Given the description of an element on the screen output the (x, y) to click on. 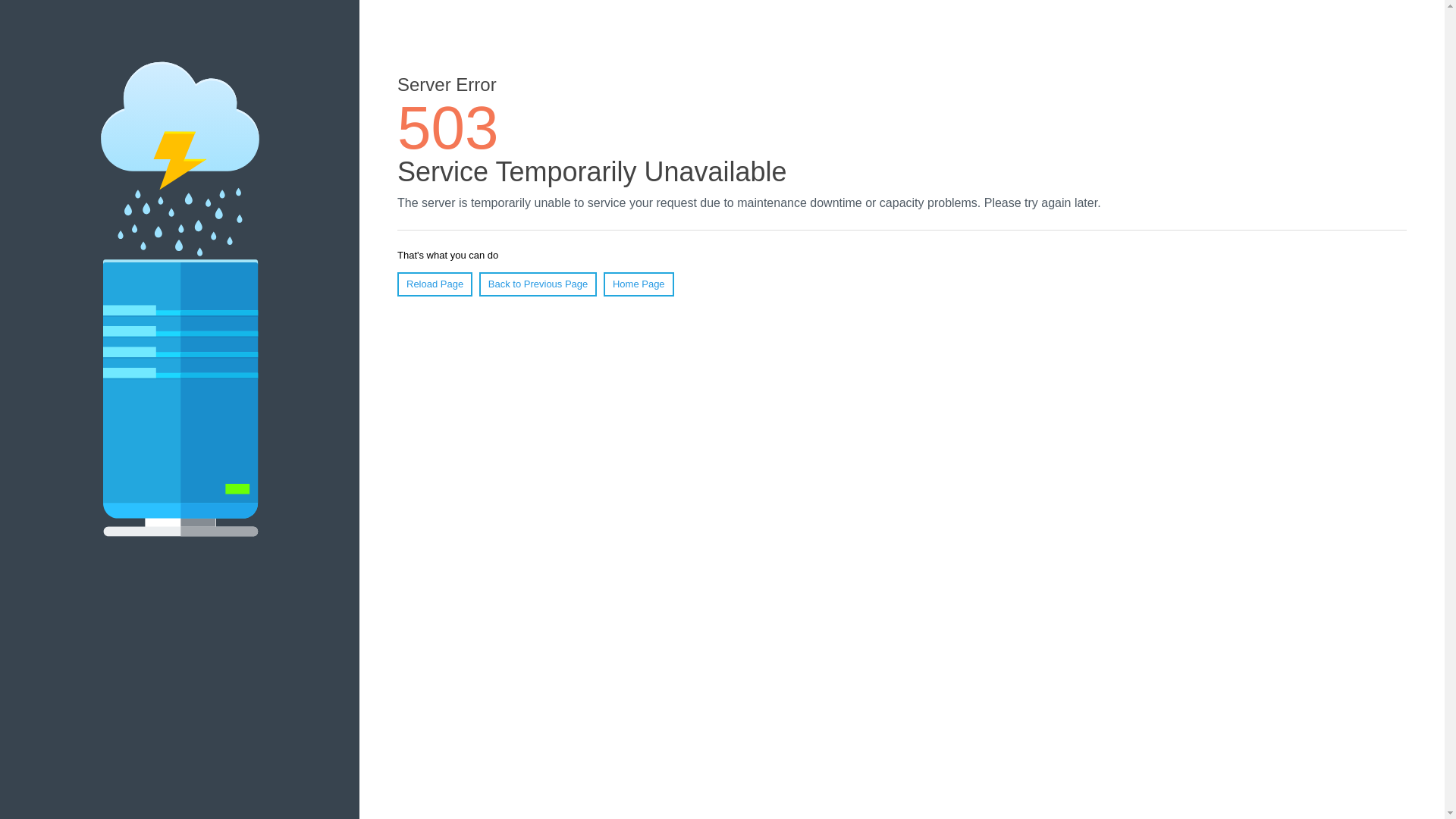
Home Page Element type: text (638, 284)
Reload Page Element type: text (434, 284)
Back to Previous Page Element type: text (538, 284)
